Given the description of an element on the screen output the (x, y) to click on. 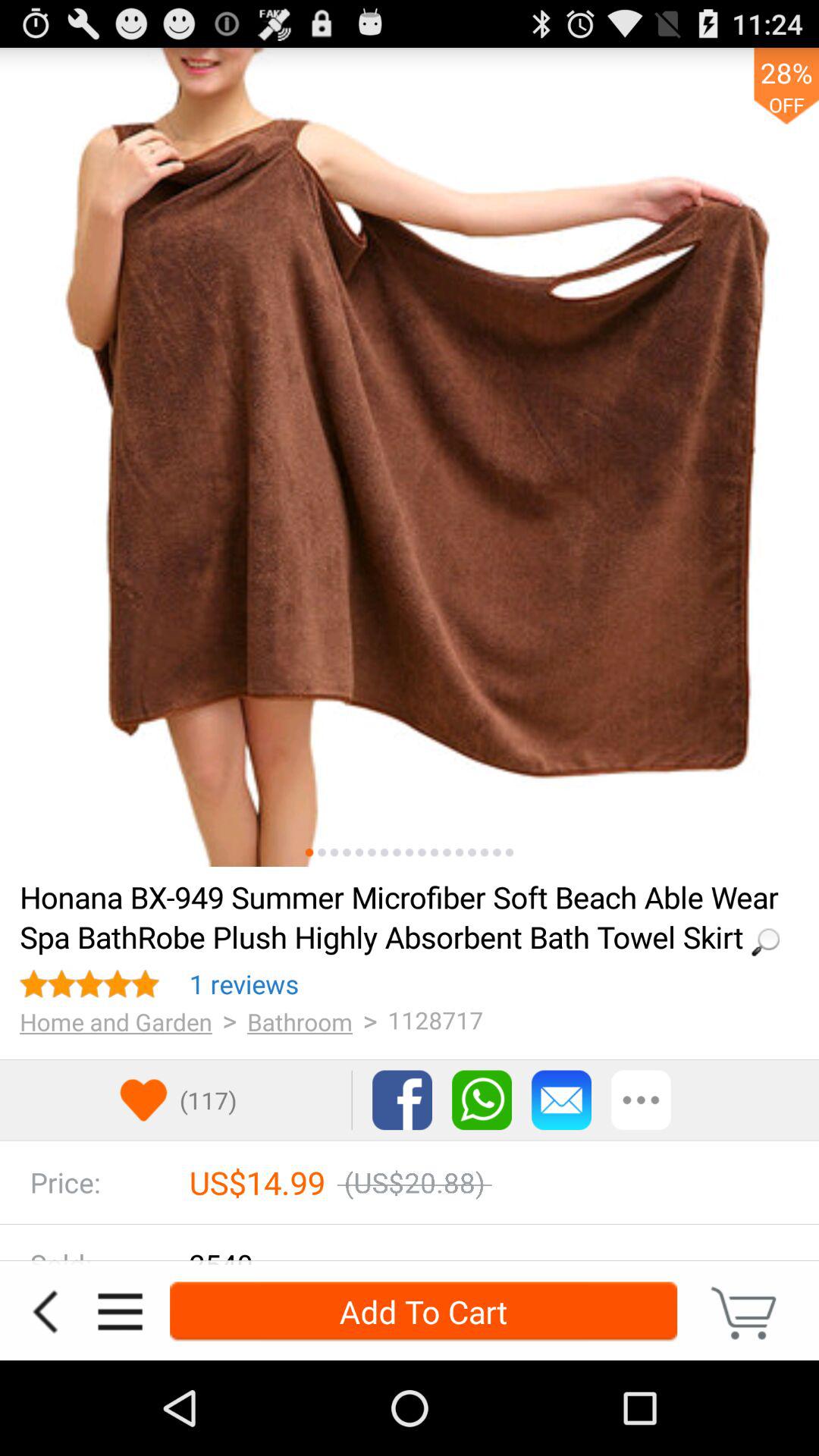
view a different picture (459, 852)
